Given the description of an element on the screen output the (x, y) to click on. 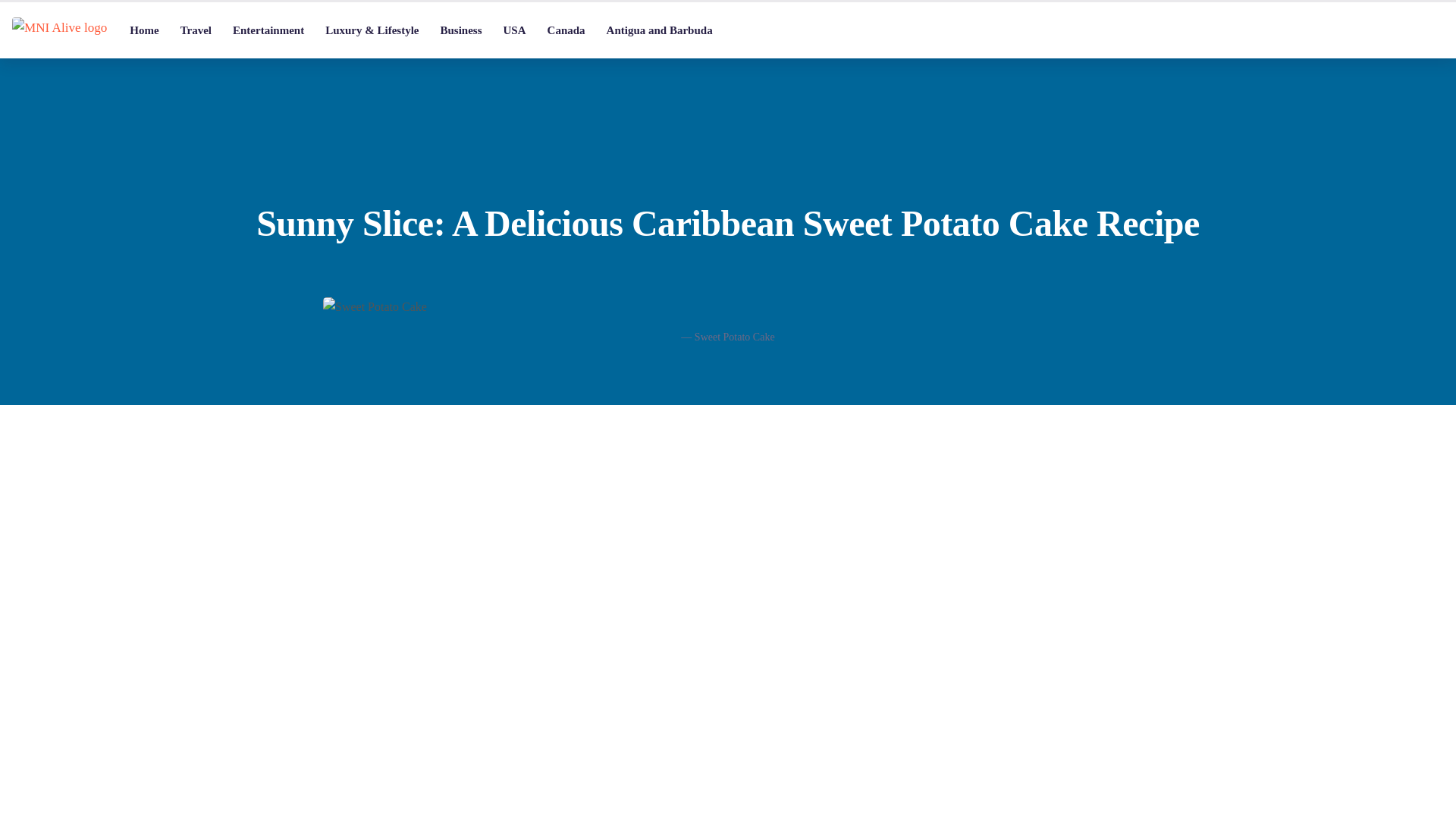
USA (515, 30)
Canada (566, 30)
Antigua and Barbuda (659, 30)
Entertainment (268, 30)
Business (460, 30)
Travel (196, 30)
Home (143, 30)
